Given the description of an element on the screen output the (x, y) to click on. 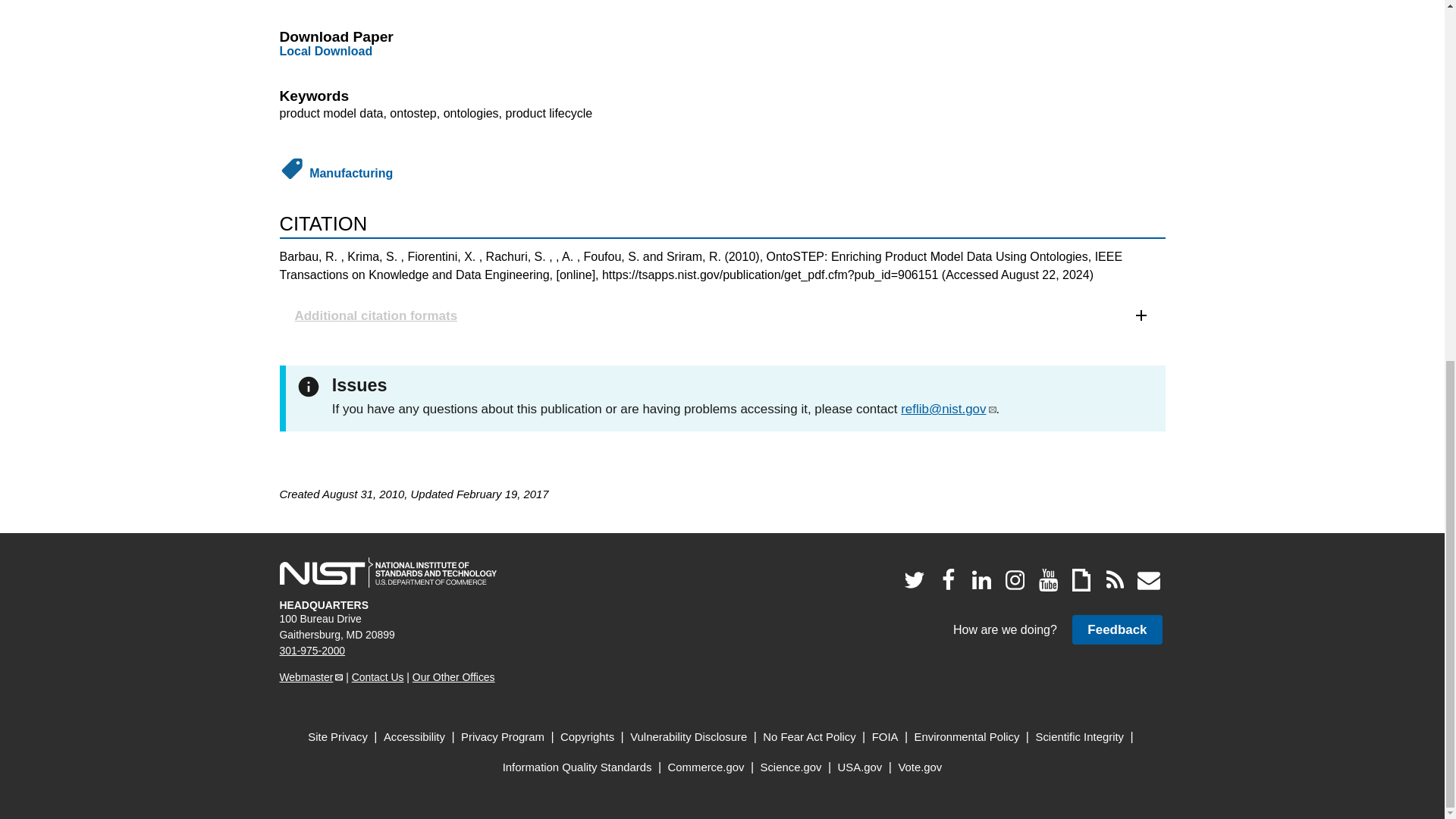
Contact Us (378, 676)
Additional citation formats (721, 315)
FOIA (885, 736)
Webmaster (310, 676)
Accessibility (414, 736)
National Institute of Standards and Technology (387, 572)
Our Other Offices (453, 676)
Privacy Program (502, 736)
Vulnerability Disclosure (688, 736)
Environmental Policy (967, 736)
